Given the description of an element on the screen output the (x, y) to click on. 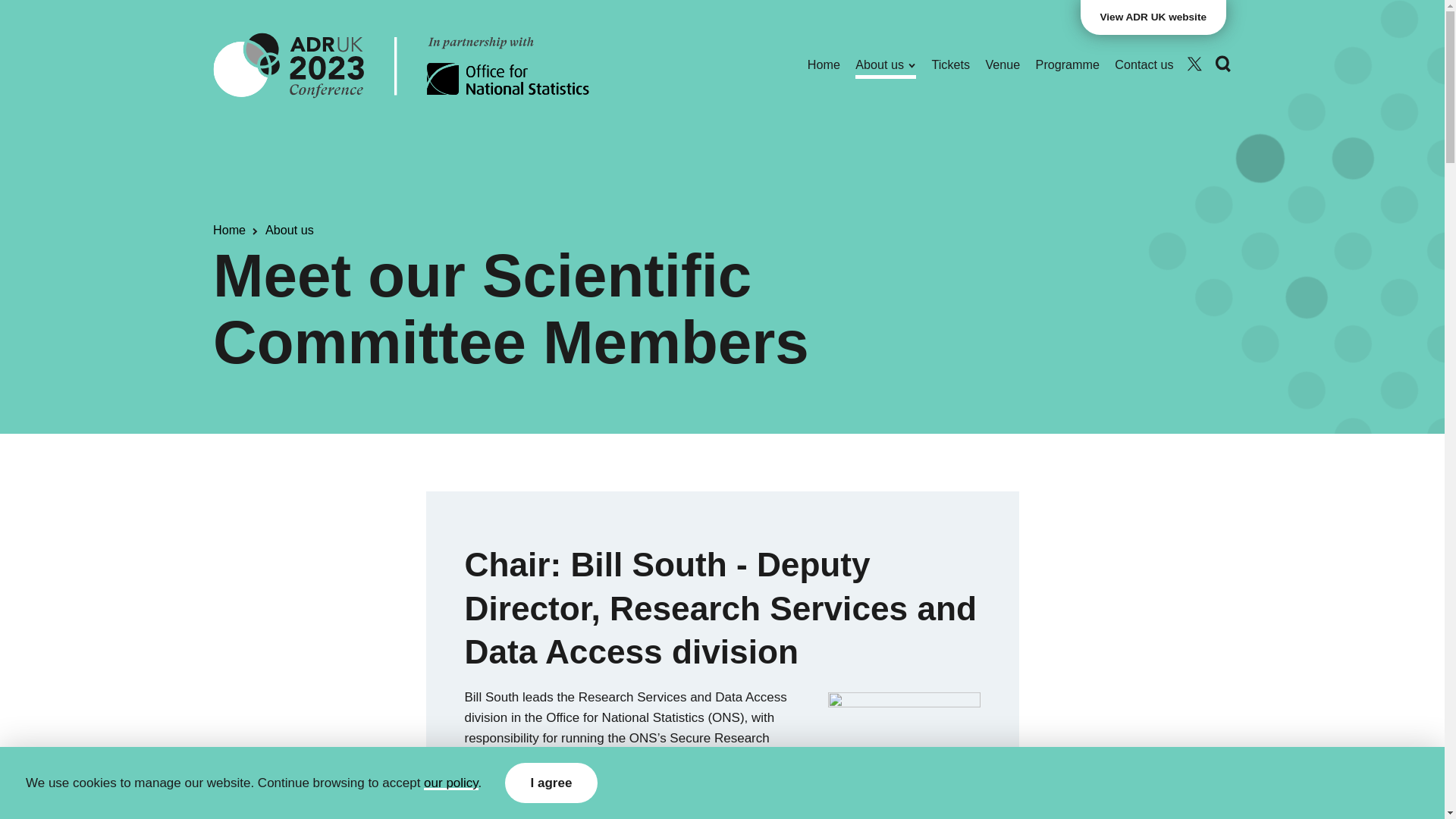
ADR UK - 2023 Conference - Data driven change (400, 64)
Contact us (1144, 65)
Home (824, 65)
About us (885, 65)
Venue (1002, 65)
Tickets (951, 65)
View ADR UK website (1152, 17)
Contact us (1144, 65)
Programme (1067, 65)
About us (885, 65)
About us (289, 230)
Tickets (951, 65)
Home (824, 65)
Home (229, 230)
Venue (1002, 65)
